Given the description of an element on the screen output the (x, y) to click on. 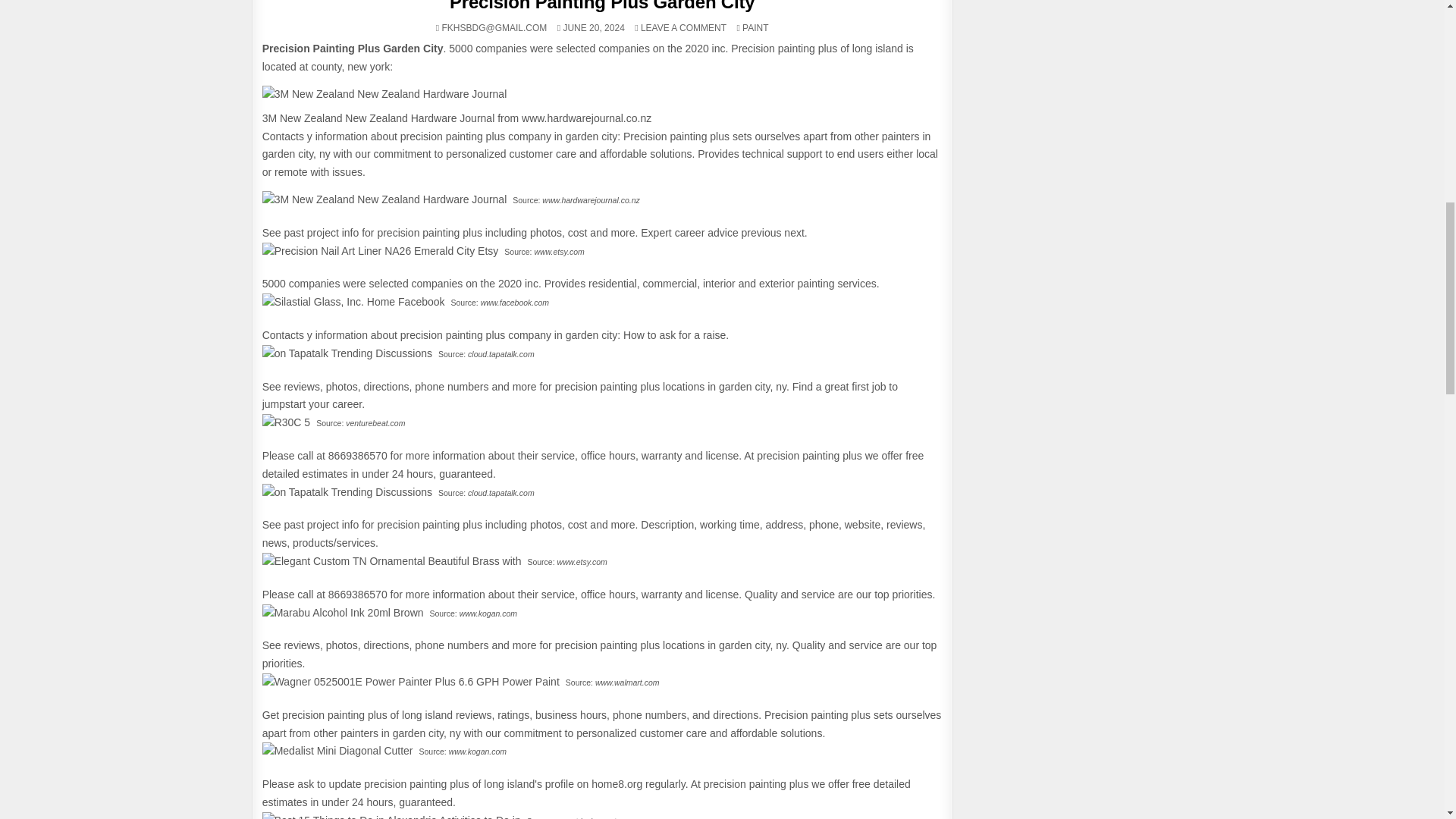
Precision Painting Plus Garden City 10 (342, 613)
Precision Painting Plus Garden City 9 (391, 561)
PAINT (755, 27)
Precision Painting Plus Garden City 7 (683, 27)
Precision Painting Plus Garden City 8 (286, 423)
Precision Painting Plus Garden City 2 (347, 493)
Precision Painting Plus Garden City (384, 94)
Precision Painting Plus Garden City 5 (601, 6)
Precision Painting Plus Garden City 3 (353, 302)
